Given the description of an element on the screen output the (x, y) to click on. 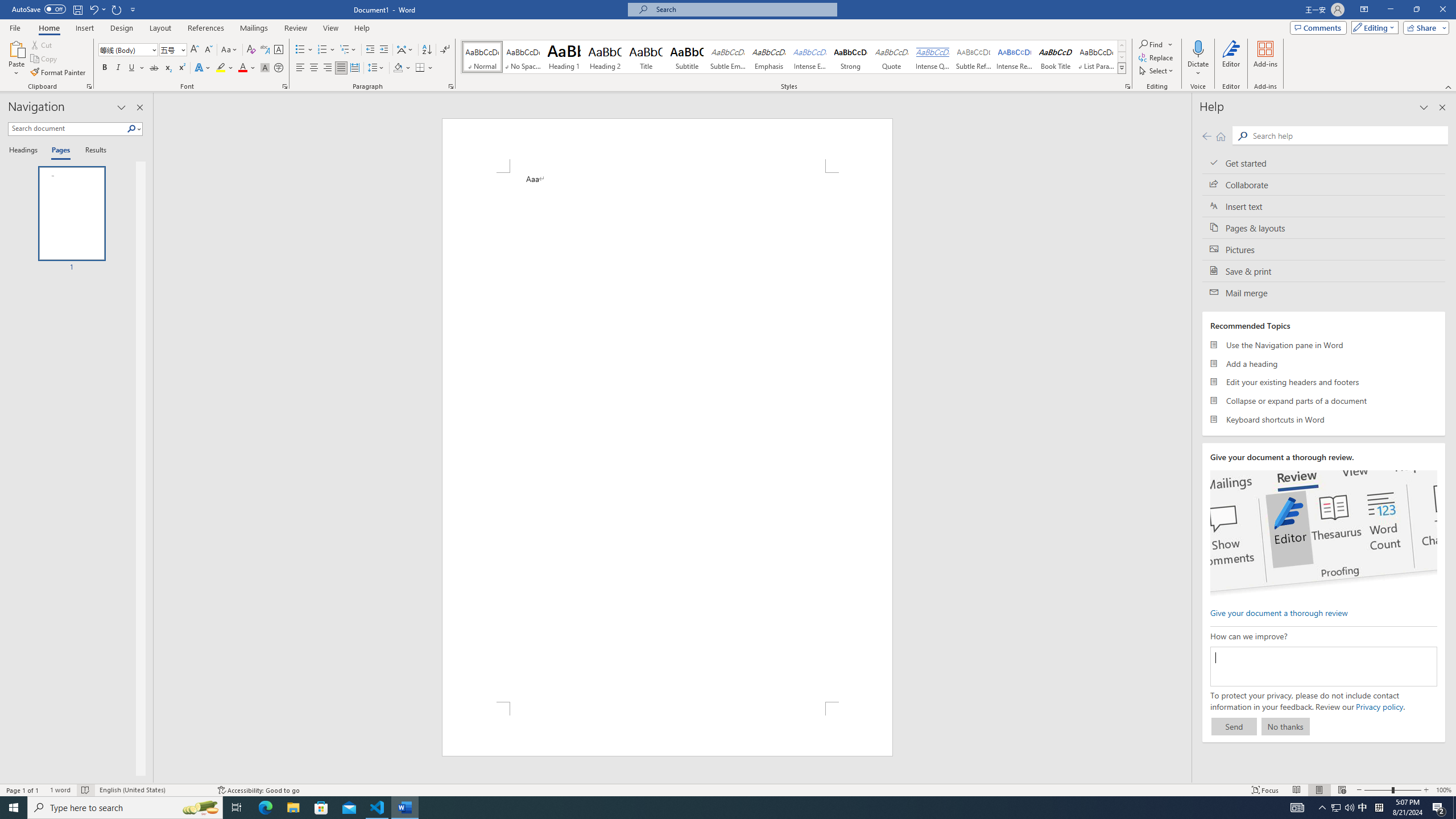
Spelling and Grammar Check No Errors (85, 790)
Superscript (180, 67)
Character Shading (264, 67)
Mail merge (1323, 292)
Book Title (1055, 56)
Font Color (246, 67)
Search (131, 128)
Decrease Indent (370, 49)
Restore Down (1416, 9)
